Given the description of an element on the screen output the (x, y) to click on. 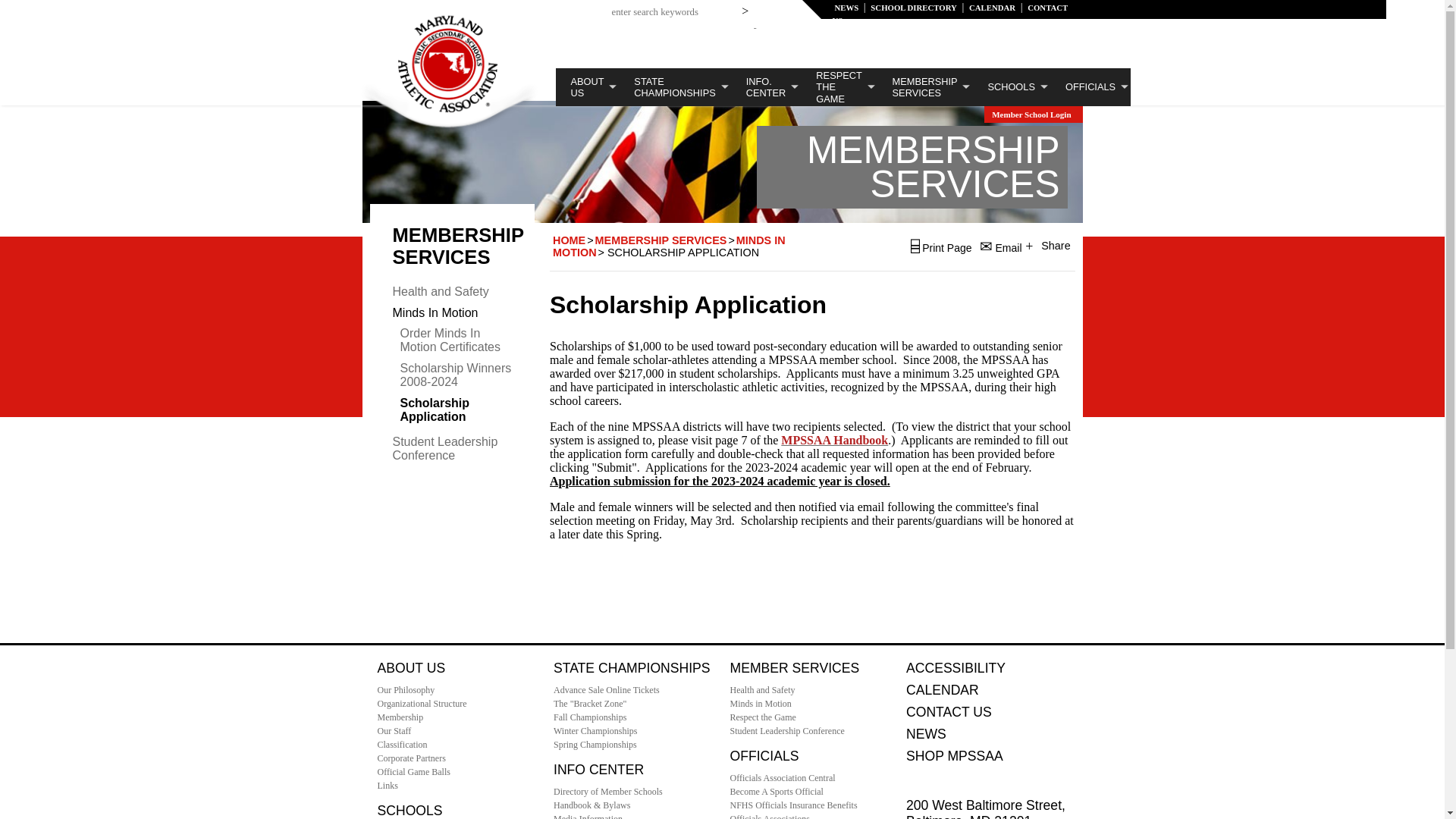
NEWS (846, 7)
CALENDAR (991, 7)
Search (747, 7)
CONTACT US (950, 14)
SCHOOL DIRECTORY (913, 7)
ABOUT US (586, 86)
Skip to main content (787, 22)
STATE CHAMPIONSHIPS (674, 86)
Search (747, 7)
